Given the description of an element on the screen output the (x, y) to click on. 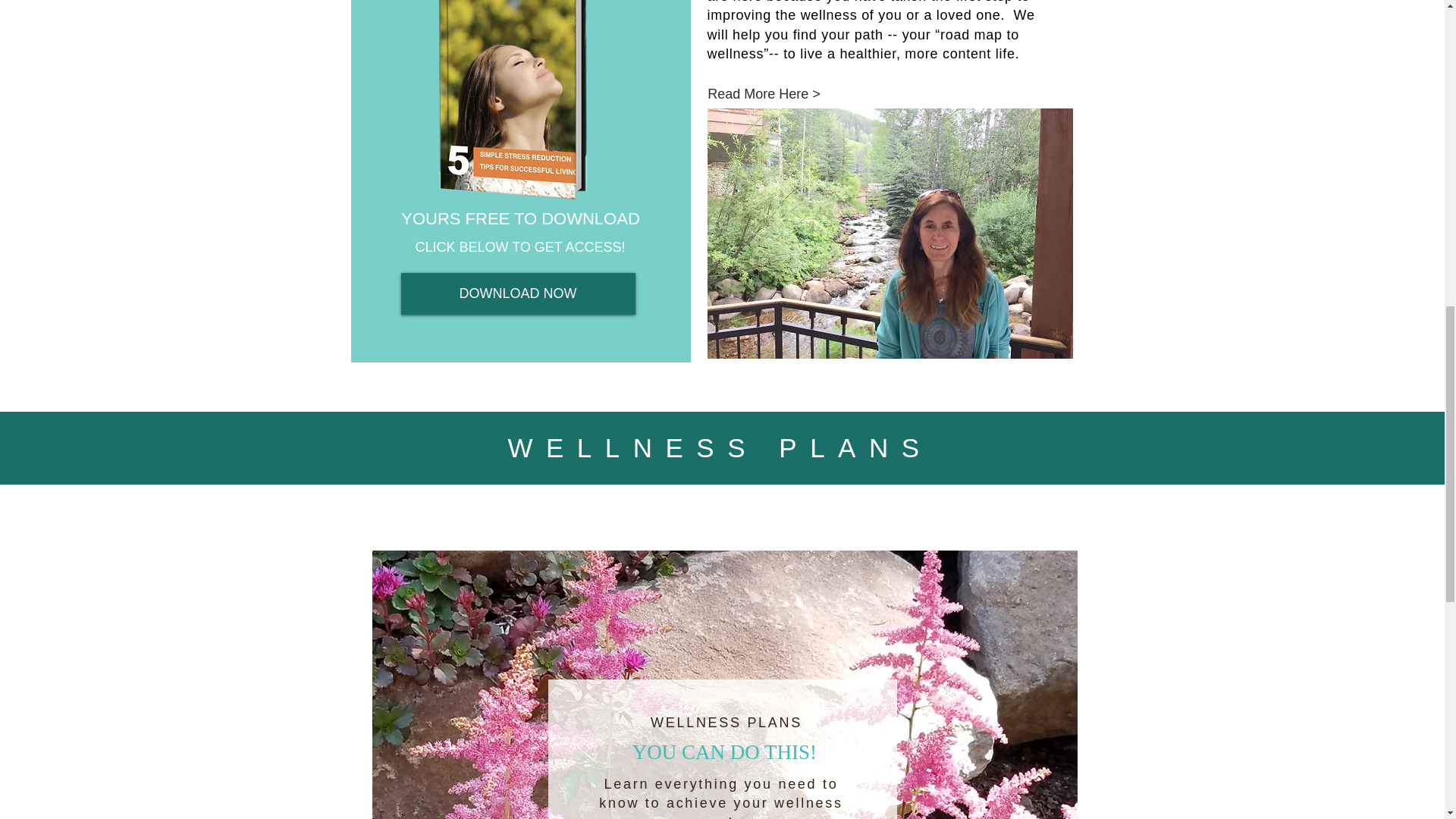
DOWNLOAD NOW (517, 293)
YOU CAN DO THIS! (725, 752)
